Given the description of an element on the screen output the (x, y) to click on. 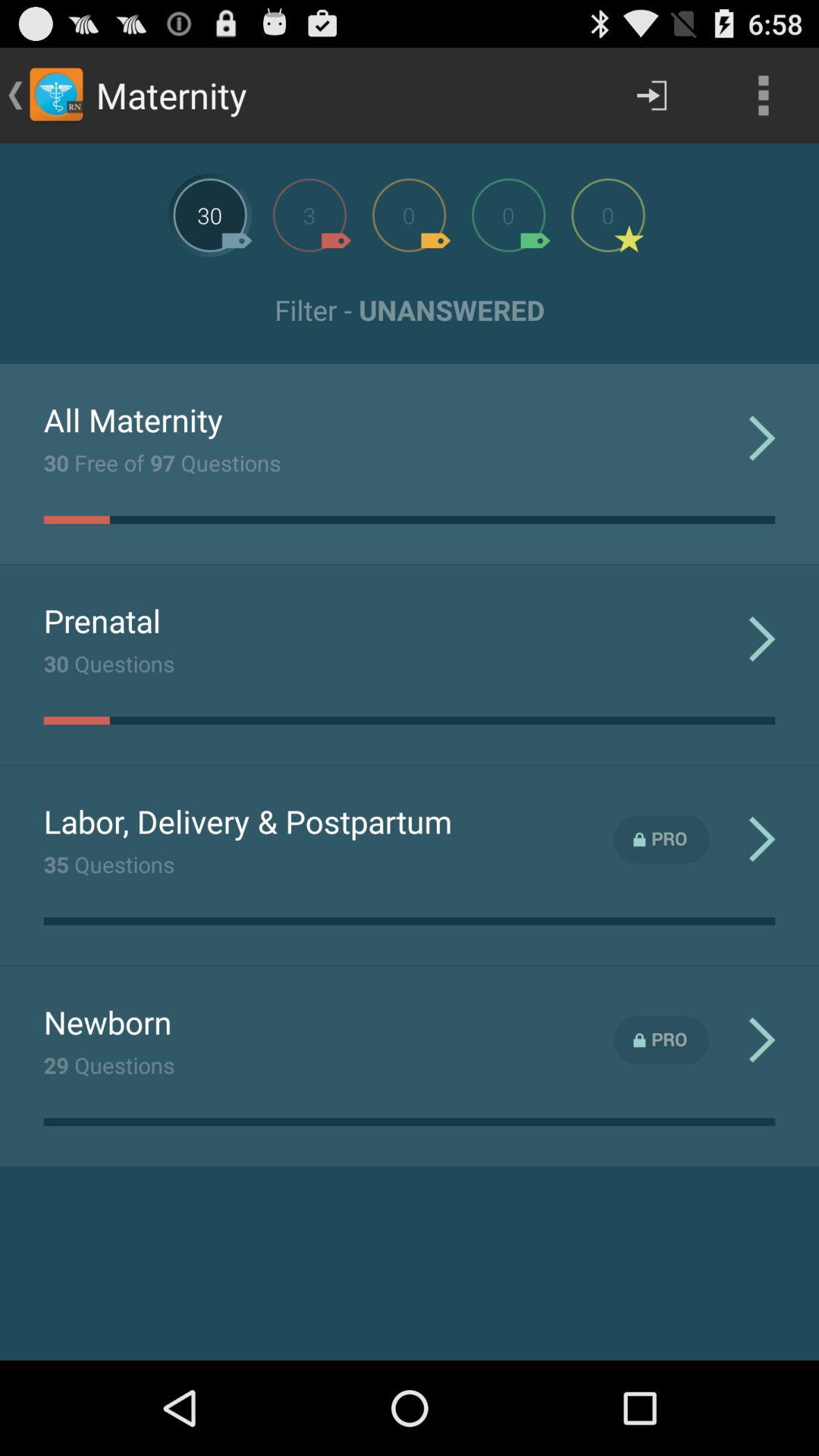
next stage of questions (309, 215)
